Given the description of an element on the screen output the (x, y) to click on. 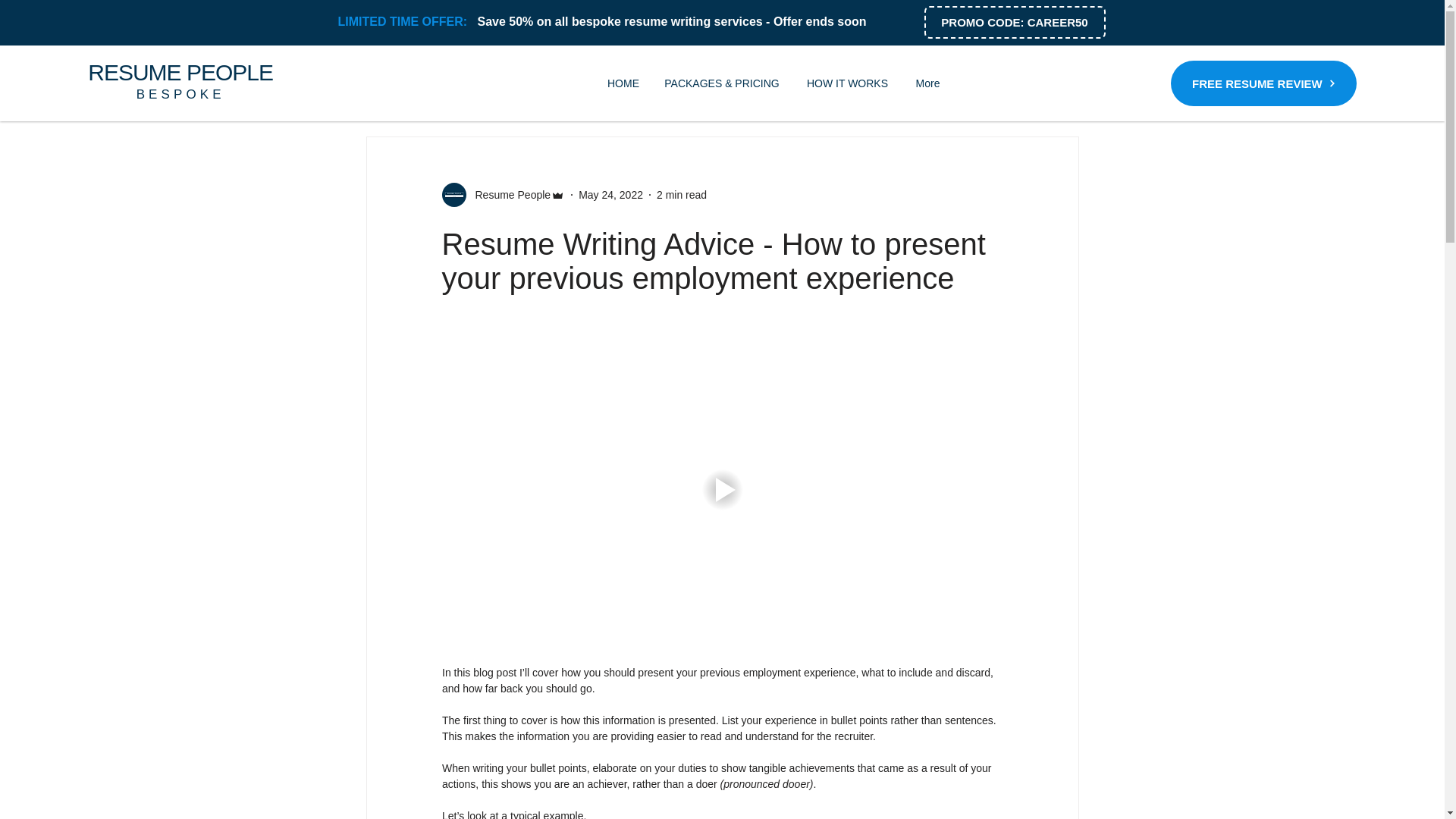
HOW IT WORKS (847, 83)
May 24, 2022 (610, 193)
RESUME (133, 72)
Resume People (507, 194)
FREE RESUME REVIEW (1263, 83)
HOME (622, 83)
 PEOPLE (226, 72)
PROMO CODE: CAREER50 (1014, 21)
2 min read (681, 193)
